Given the description of an element on the screen output the (x, y) to click on. 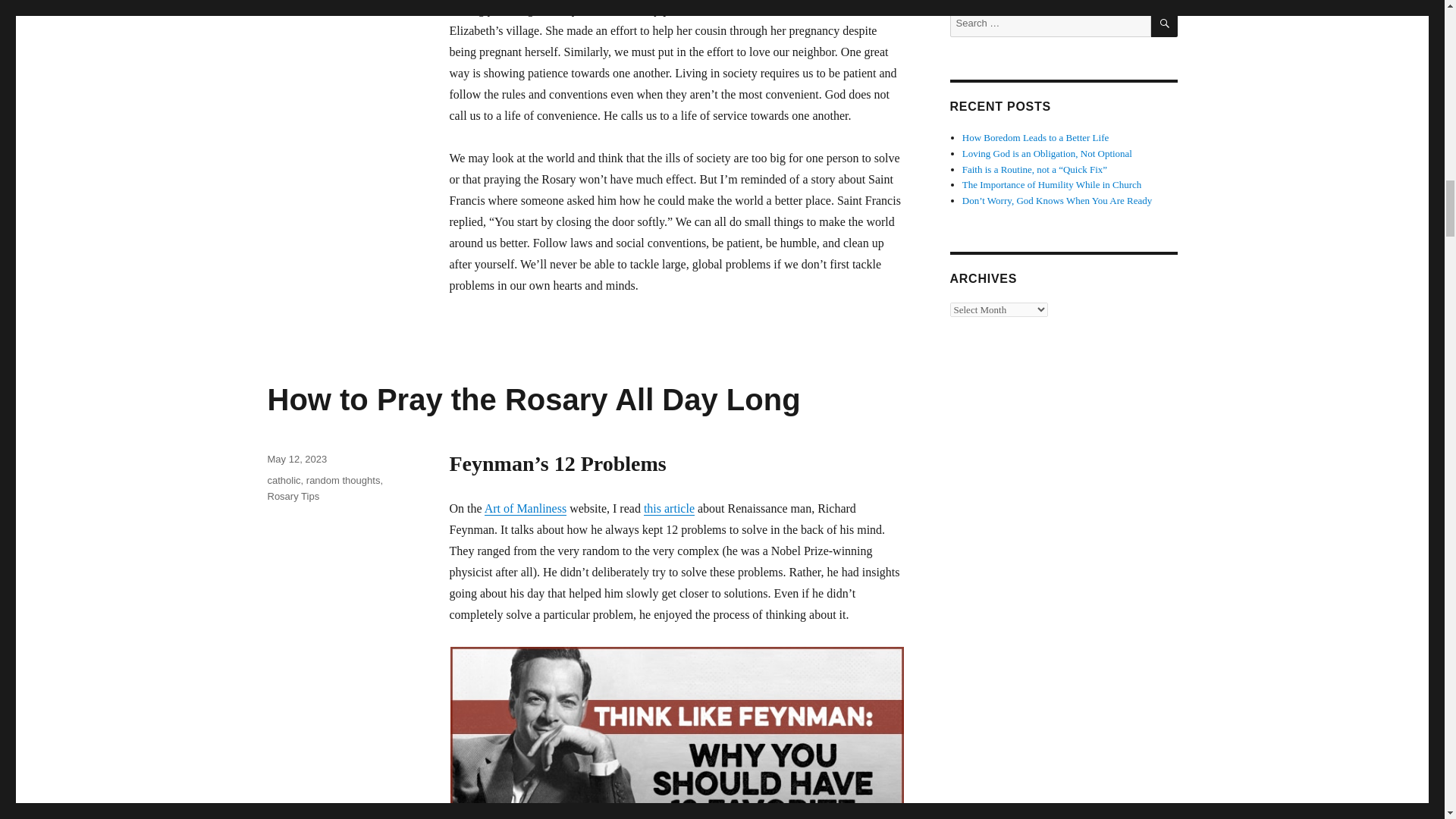
catholic (282, 480)
Rosary Tips (292, 496)
May 12, 2023 (296, 459)
Art of Manliness (525, 508)
random thoughts (342, 480)
this article (668, 508)
How to Pray the Rosary All Day Long (532, 399)
